Given the description of an element on the screen output the (x, y) to click on. 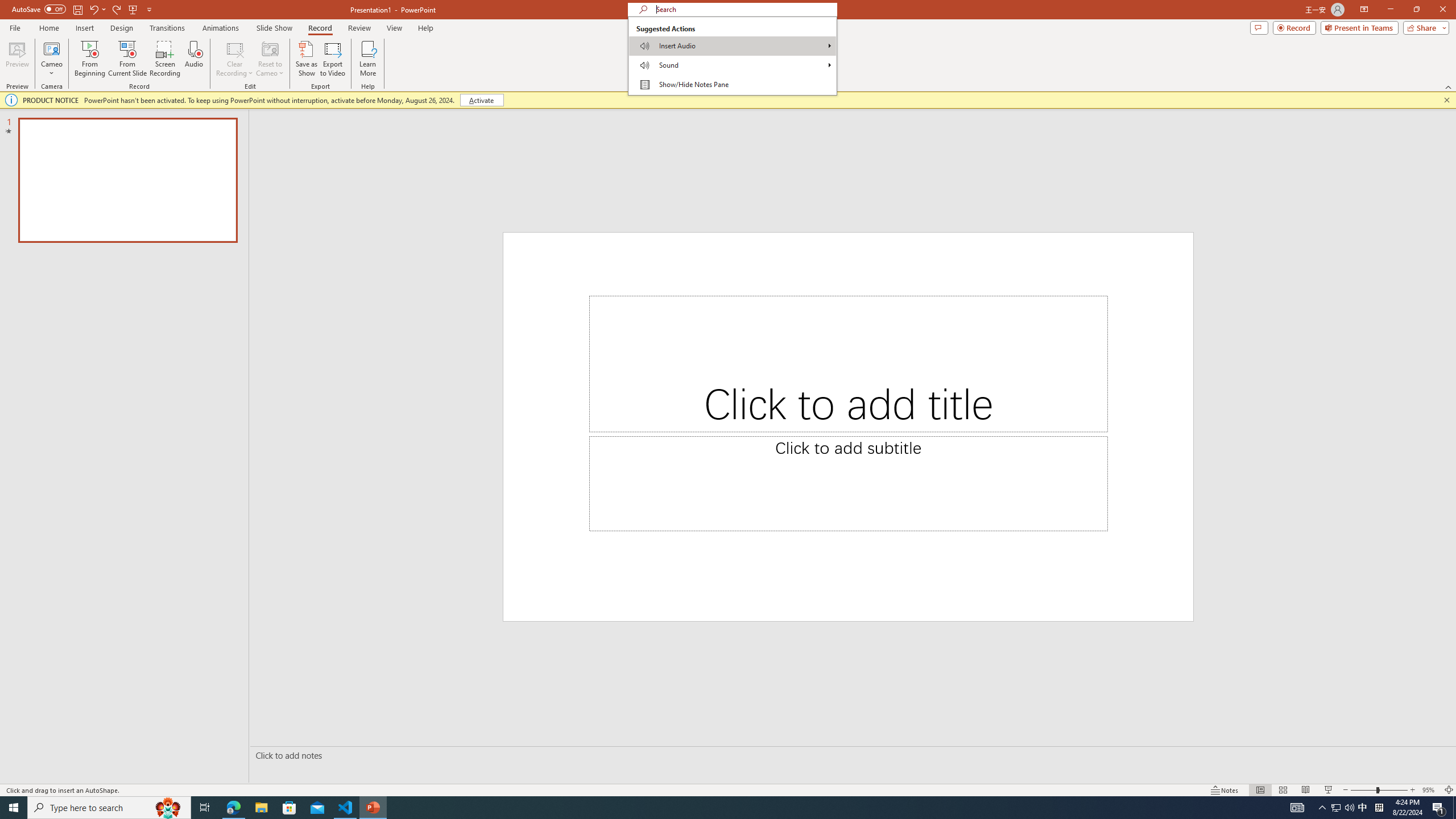
Activate (481, 100)
